Given the description of an element on the screen output the (x, y) to click on. 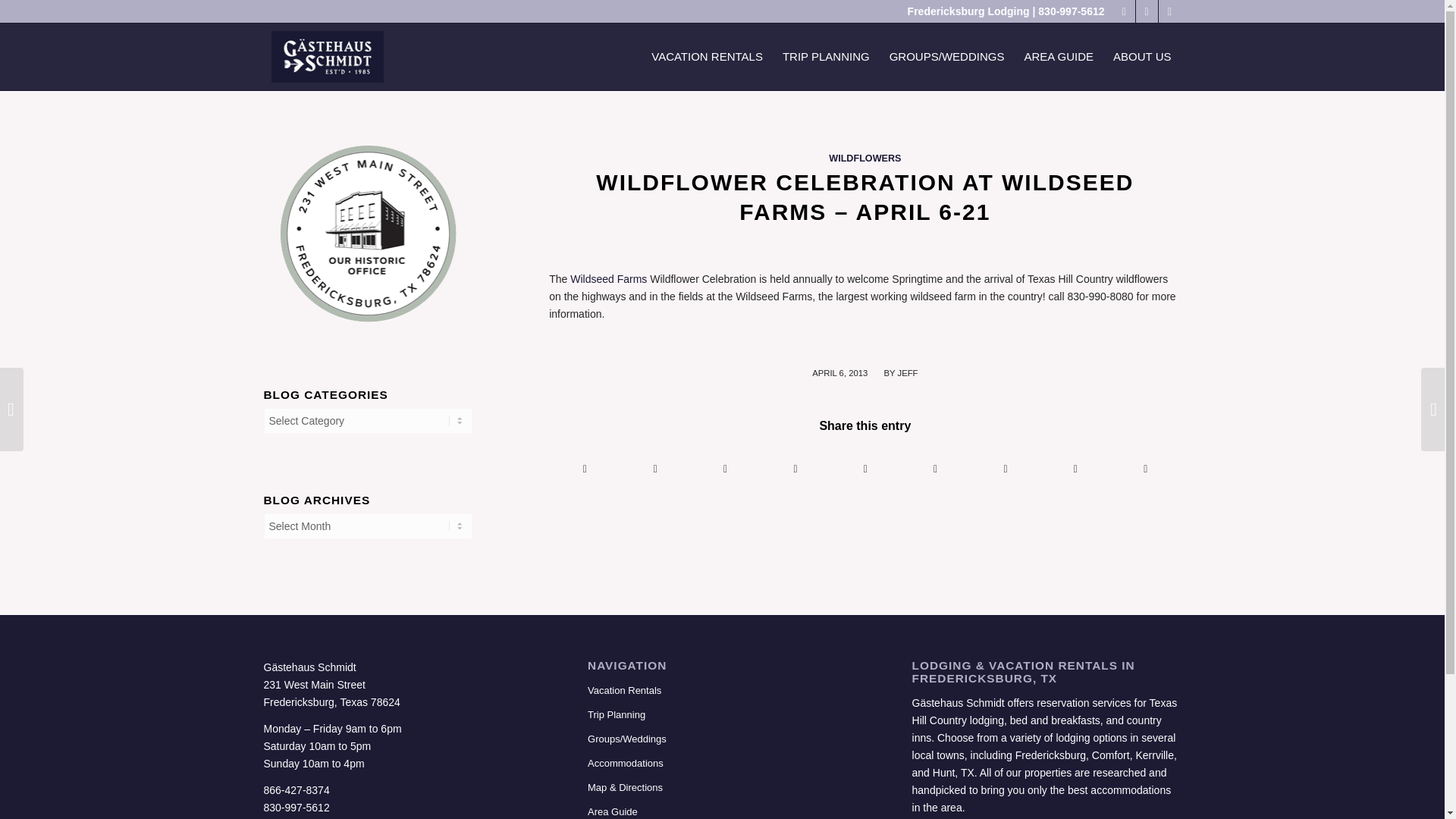
TRIP PLANNING (826, 56)
Facebook (1124, 11)
AREA GUIDE (1058, 56)
Instagram (1169, 11)
VACATION RENTALS (707, 56)
830-997-5612 (1070, 10)
Pinterest (1146, 11)
Posts by Jeff (906, 372)
